Given the description of an element on the screen output the (x, y) to click on. 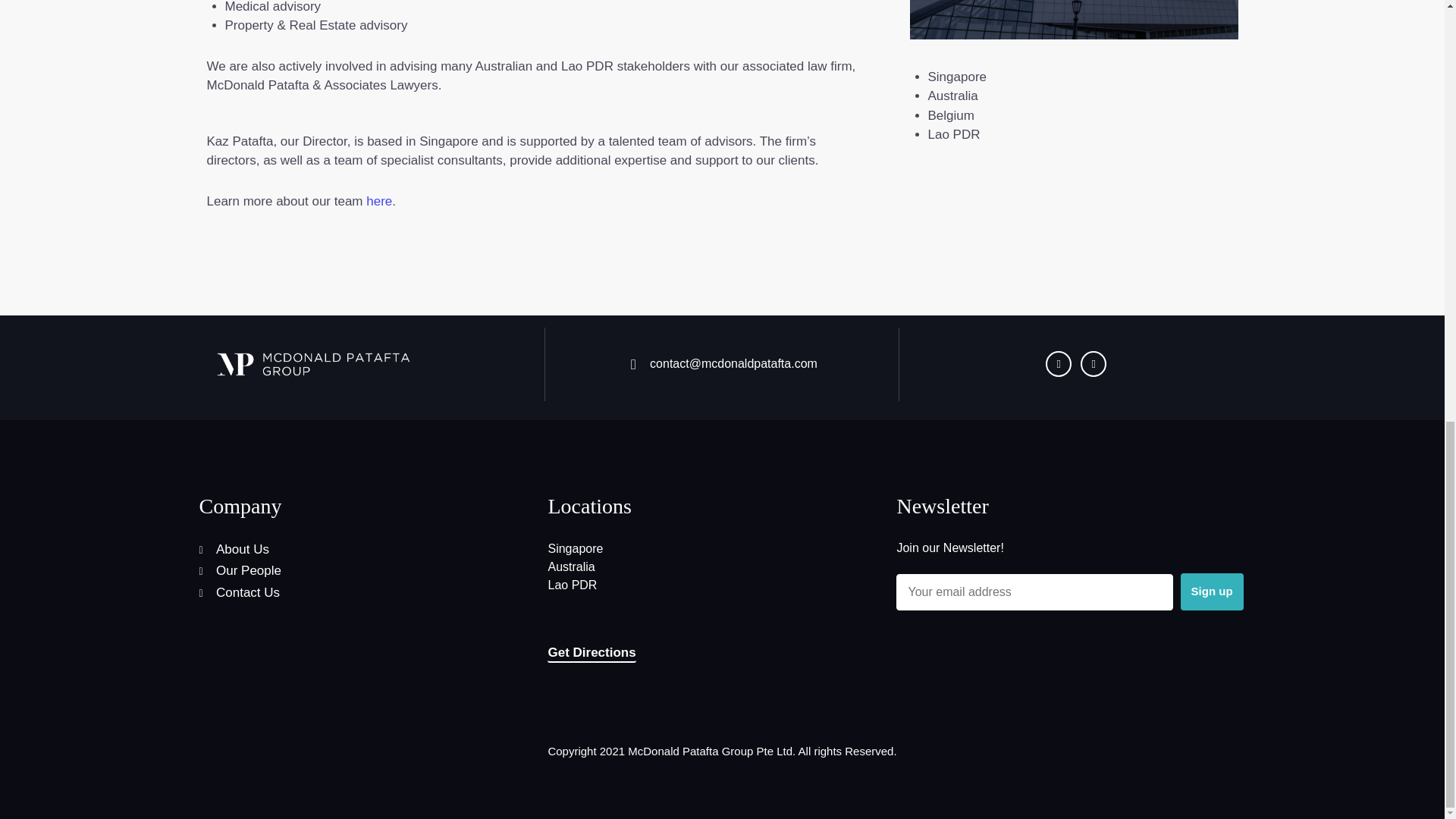
About Us (366, 549)
Contact Us (366, 592)
Sign up (1211, 591)
Get Directions (590, 654)
here (378, 201)
Sign up (1211, 591)
Our People (366, 570)
